Given the description of an element on the screen output the (x, y) to click on. 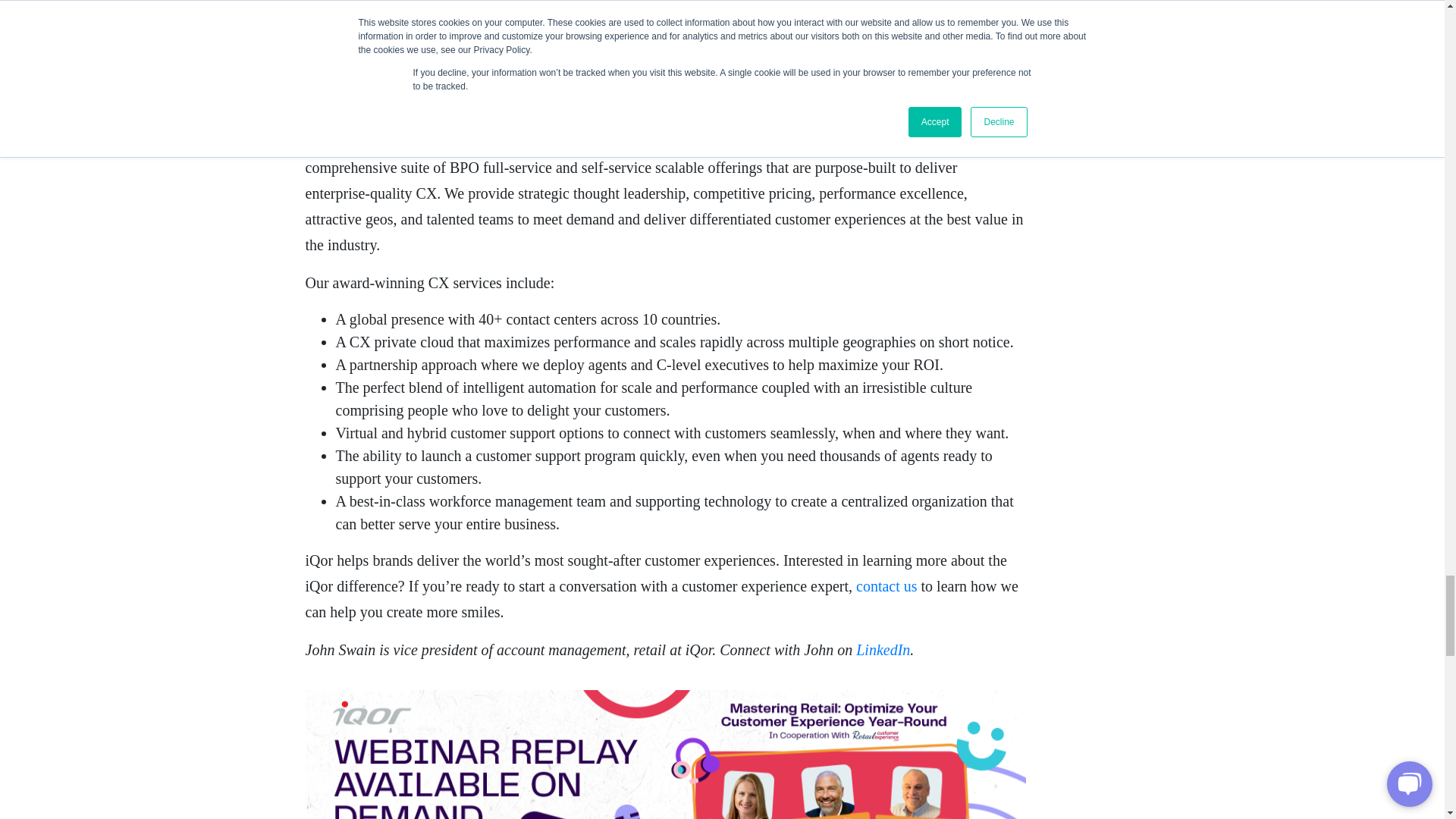
Embedded CTA (664, 754)
